Given the description of an element on the screen output the (x, y) to click on. 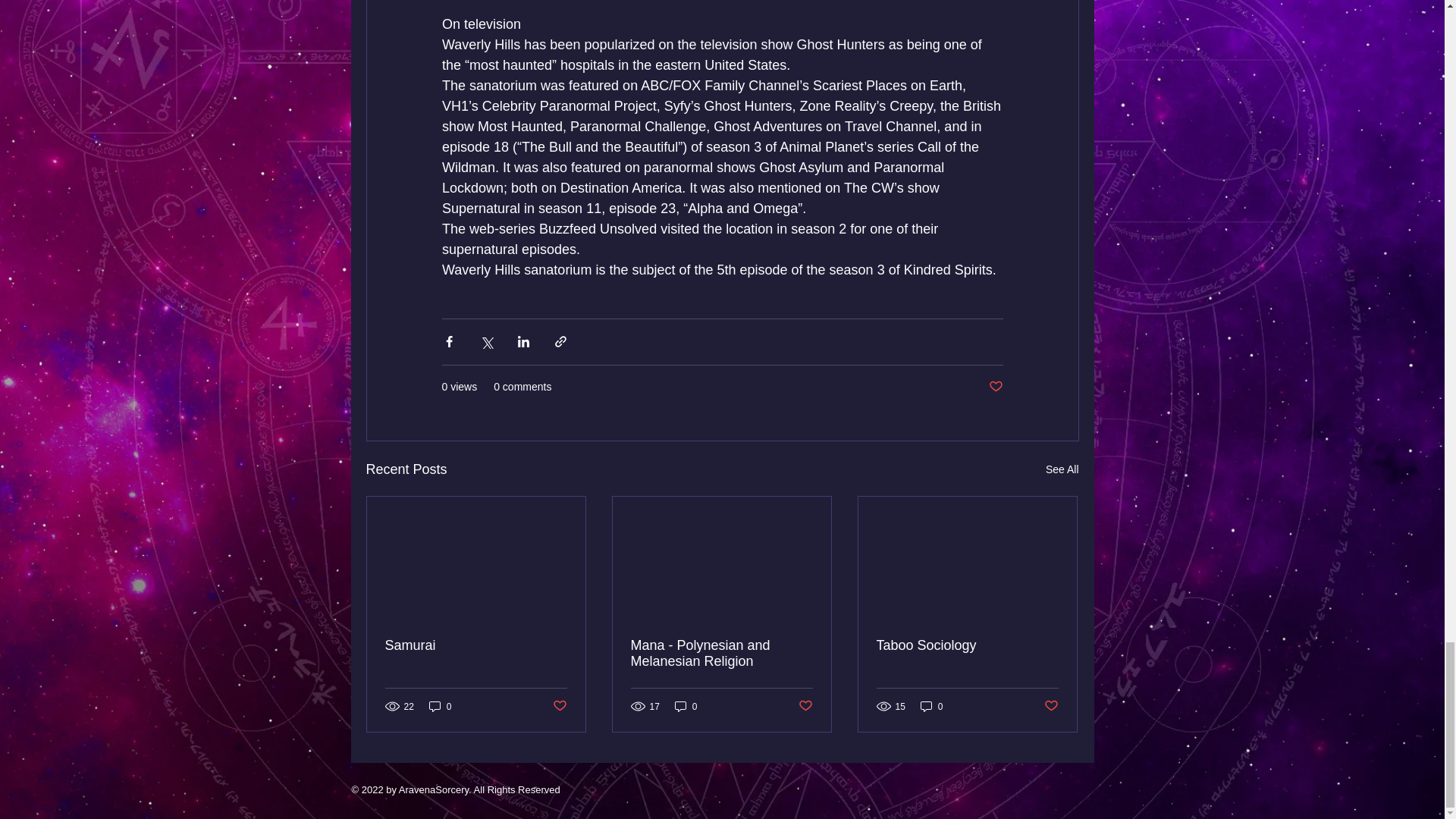
0 (685, 706)
Taboo Sociology (967, 645)
Post not marked as liked (1050, 706)
Post not marked as liked (804, 706)
Post not marked as liked (558, 706)
Samurai (476, 645)
See All (1061, 469)
0 (440, 706)
Mana - Polynesian and Melanesian Religion (721, 653)
Post not marked as liked (995, 386)
0 (931, 706)
